Given the description of an element on the screen output the (x, y) to click on. 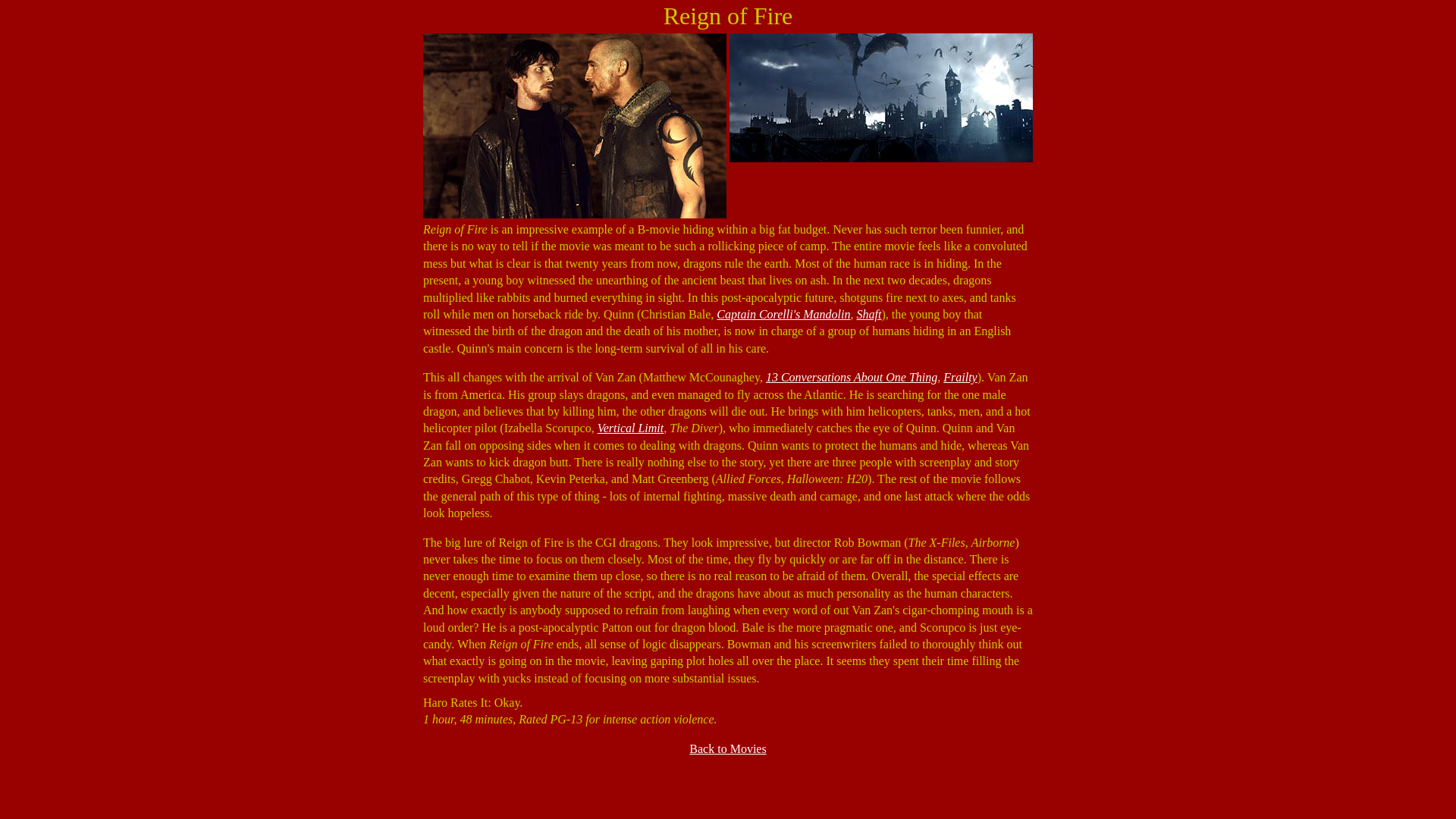
Frailty (959, 377)
13 Conversations About One Thing (851, 377)
Shaft (869, 314)
Vertical Limit (629, 427)
Back to Movies (726, 748)
Captain Corelli's Mandolin (783, 314)
